Given the description of an element on the screen output the (x, y) to click on. 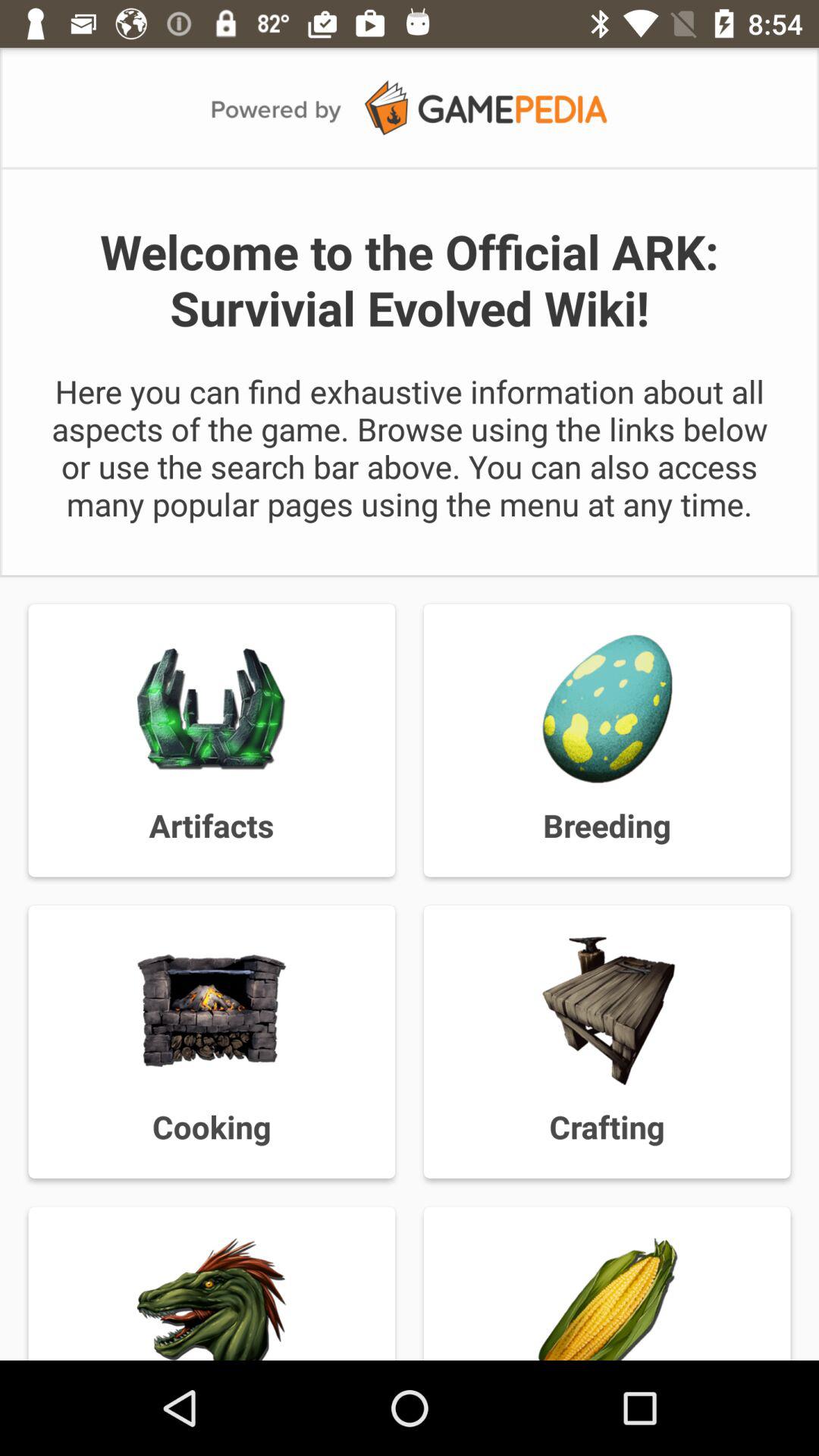
select a image which is below cooking (211, 1297)
